Given the description of an element on the screen output the (x, y) to click on. 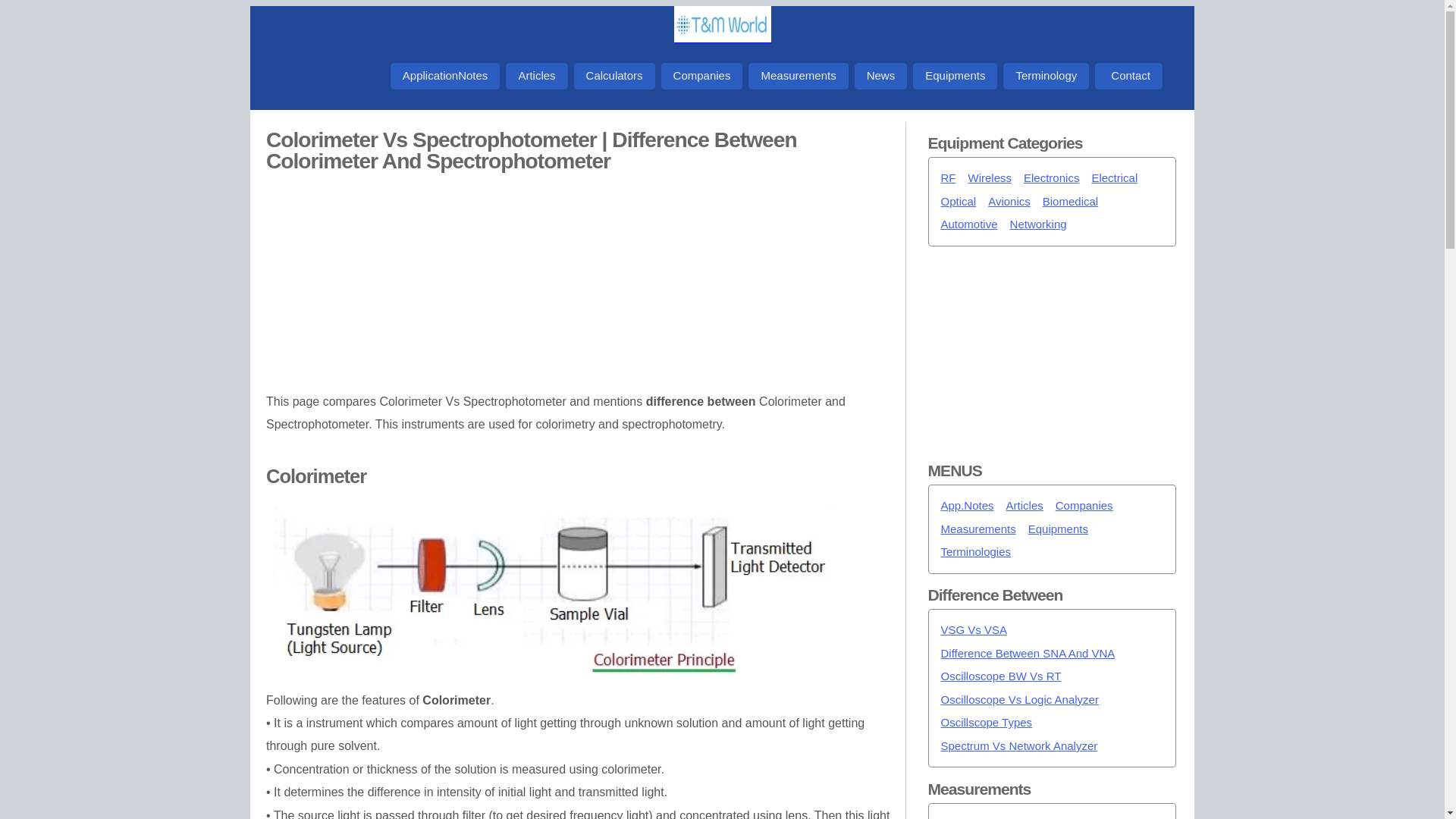
Wireless (989, 178)
Measurements (797, 76)
Networking (1038, 224)
Difference Between SNA And VNA (1027, 653)
Automotive (968, 224)
News (880, 76)
Electrical (1113, 178)
VSG Vs VSA (973, 630)
App.Notes (966, 506)
RF (947, 178)
Companies (701, 76)
Calculators (614, 76)
Terminology (1046, 76)
Electronics (1050, 178)
ApplicationNotes (445, 76)
